Given the description of an element on the screen output the (x, y) to click on. 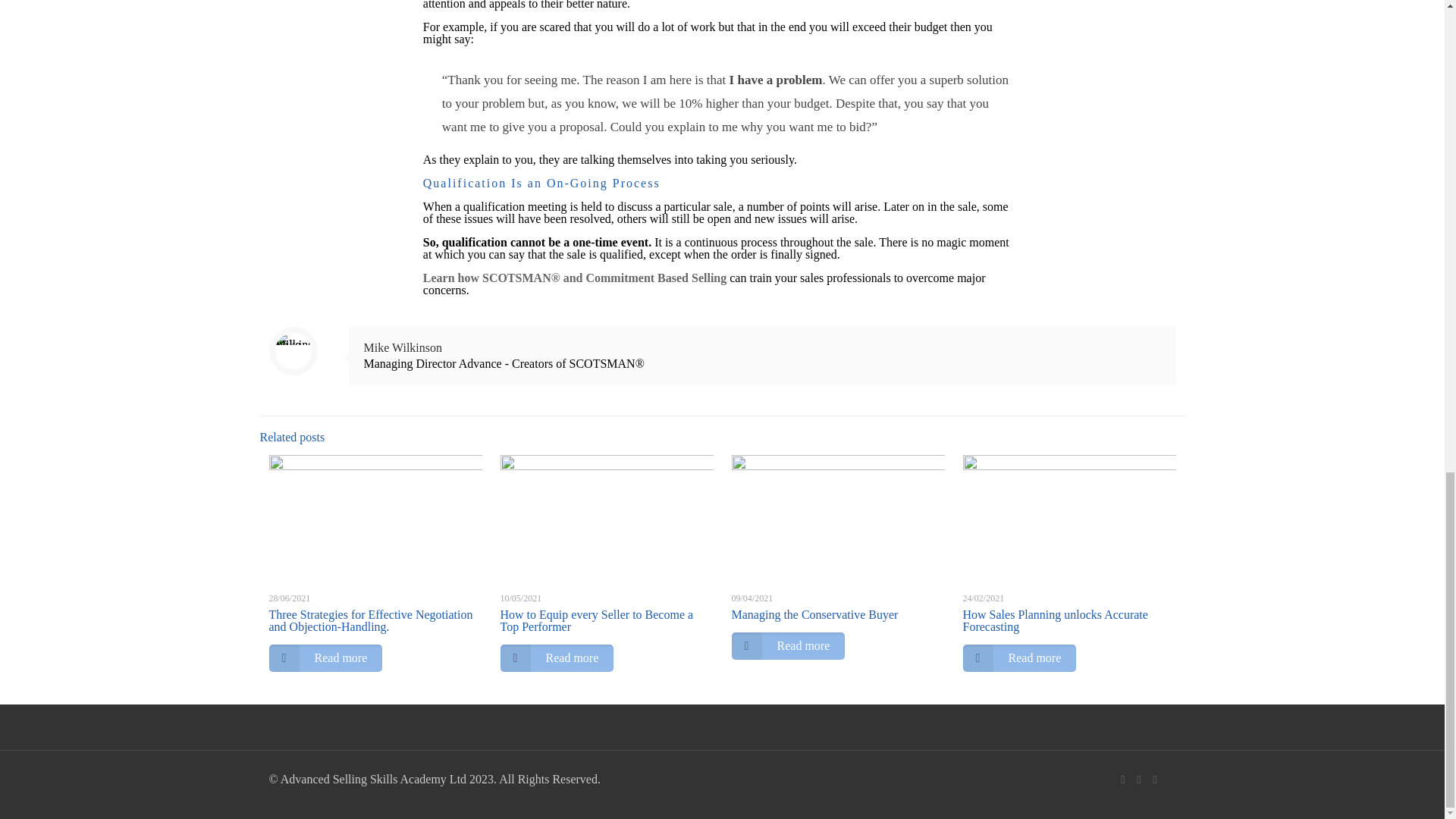
Mike Wilkinson (403, 347)
LinkedIn (1155, 779)
Read more (324, 657)
YouTube (1138, 779)
